Given the description of an element on the screen output the (x, y) to click on. 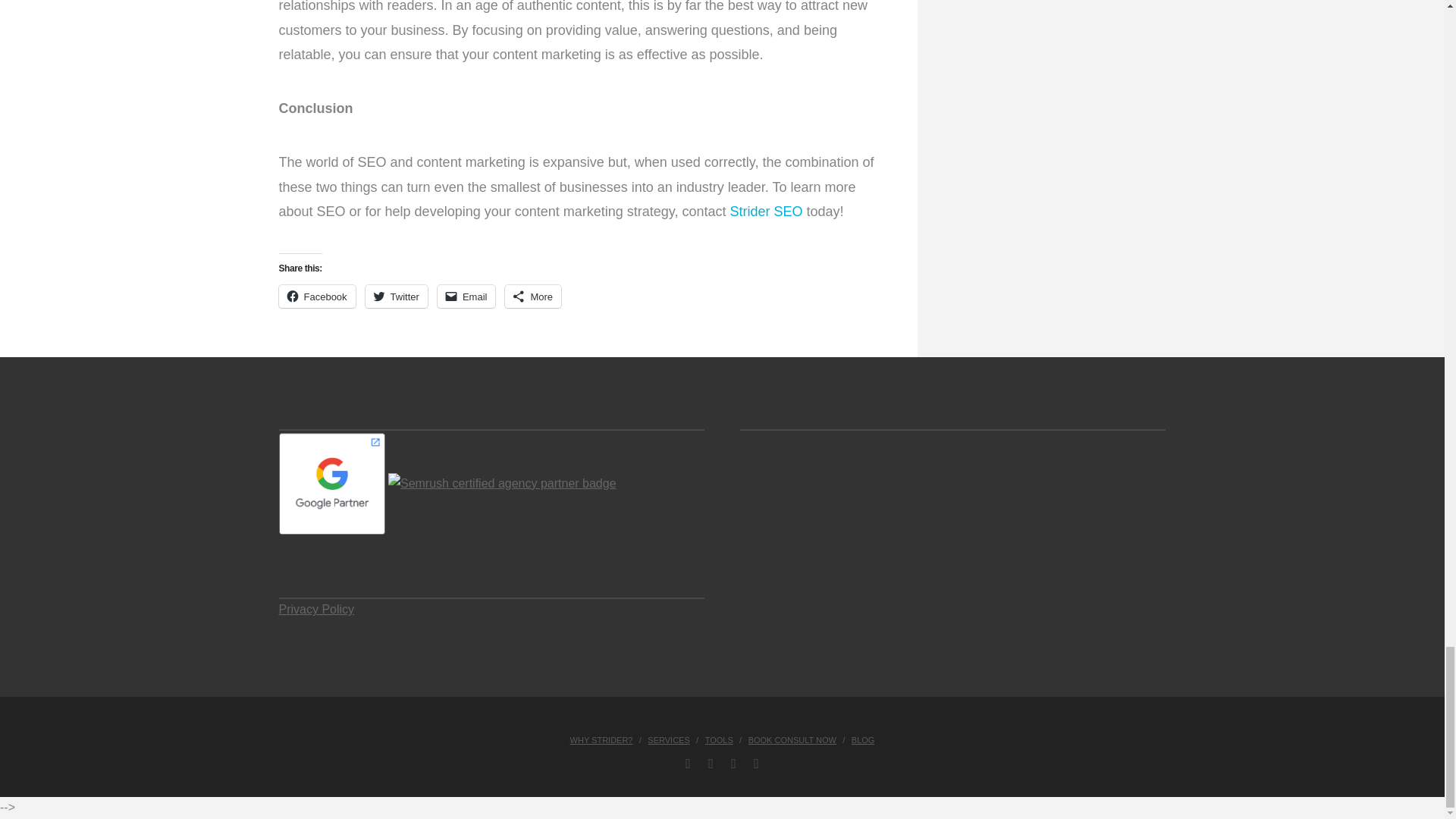
Click to share on Facebook (317, 296)
Privacy Policy (317, 608)
Click to email a link to a friend (467, 296)
Click to share on Twitter (396, 296)
